Given the description of an element on the screen output the (x, y) to click on. 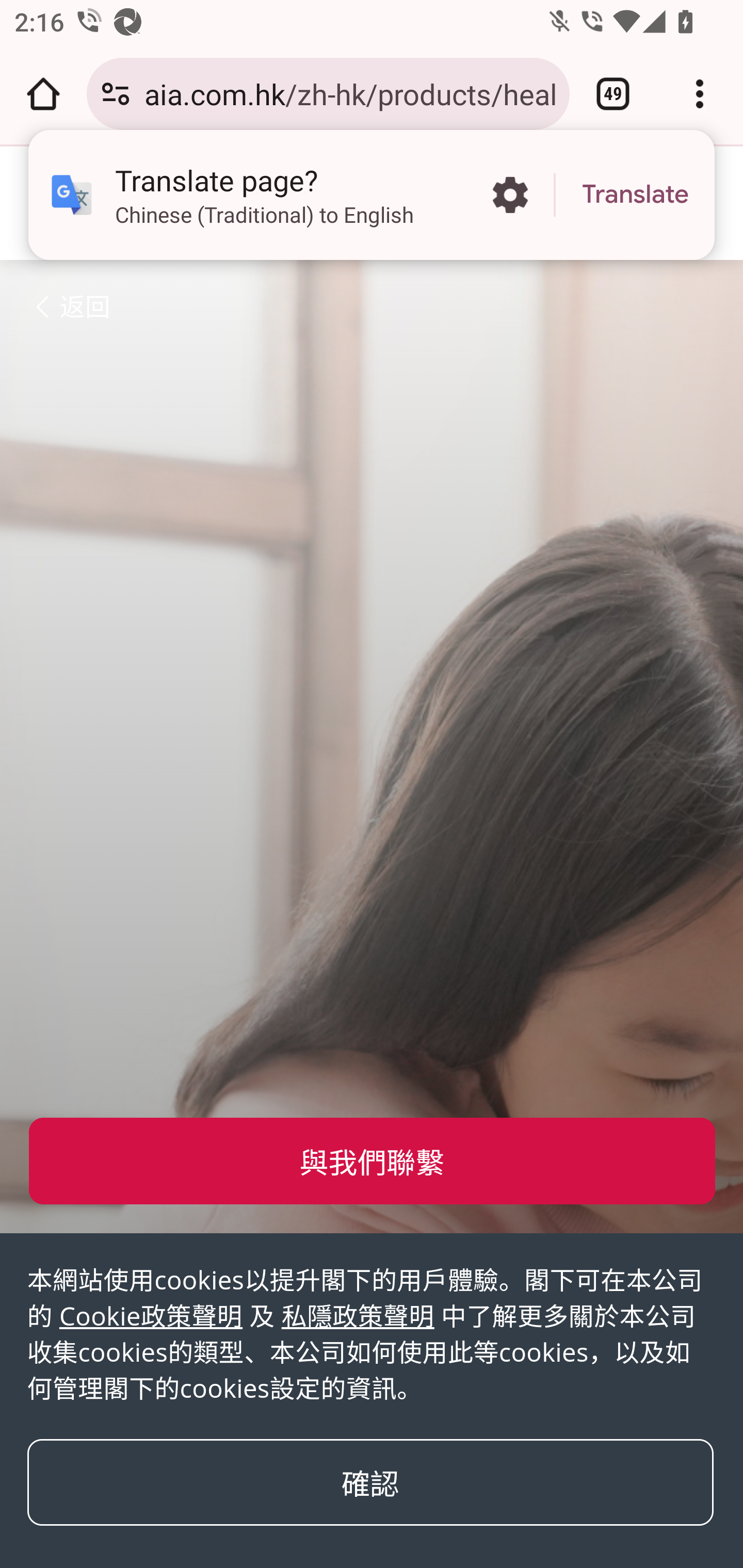
Open the home page (43, 93)
Connection is secure (115, 93)
Switch or close tabs (612, 93)
Customize and control Google Chrome (699, 93)
Translate (634, 195)
More options in the Translate page? (509, 195)
zh-hk (73, 202)
